Given the description of an element on the screen output the (x, y) to click on. 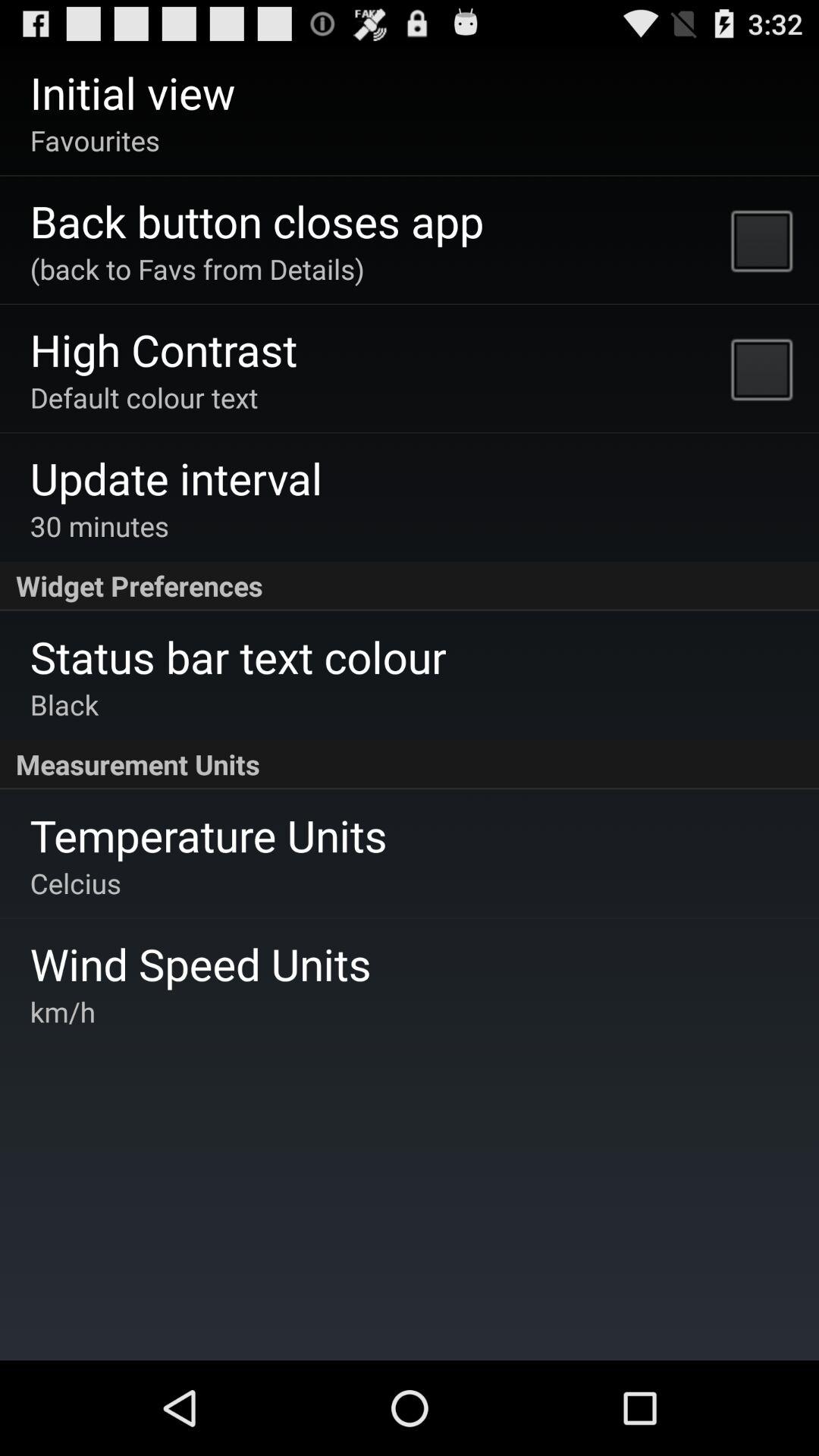
flip to the update interval (176, 477)
